Given the description of an element on the screen output the (x, y) to click on. 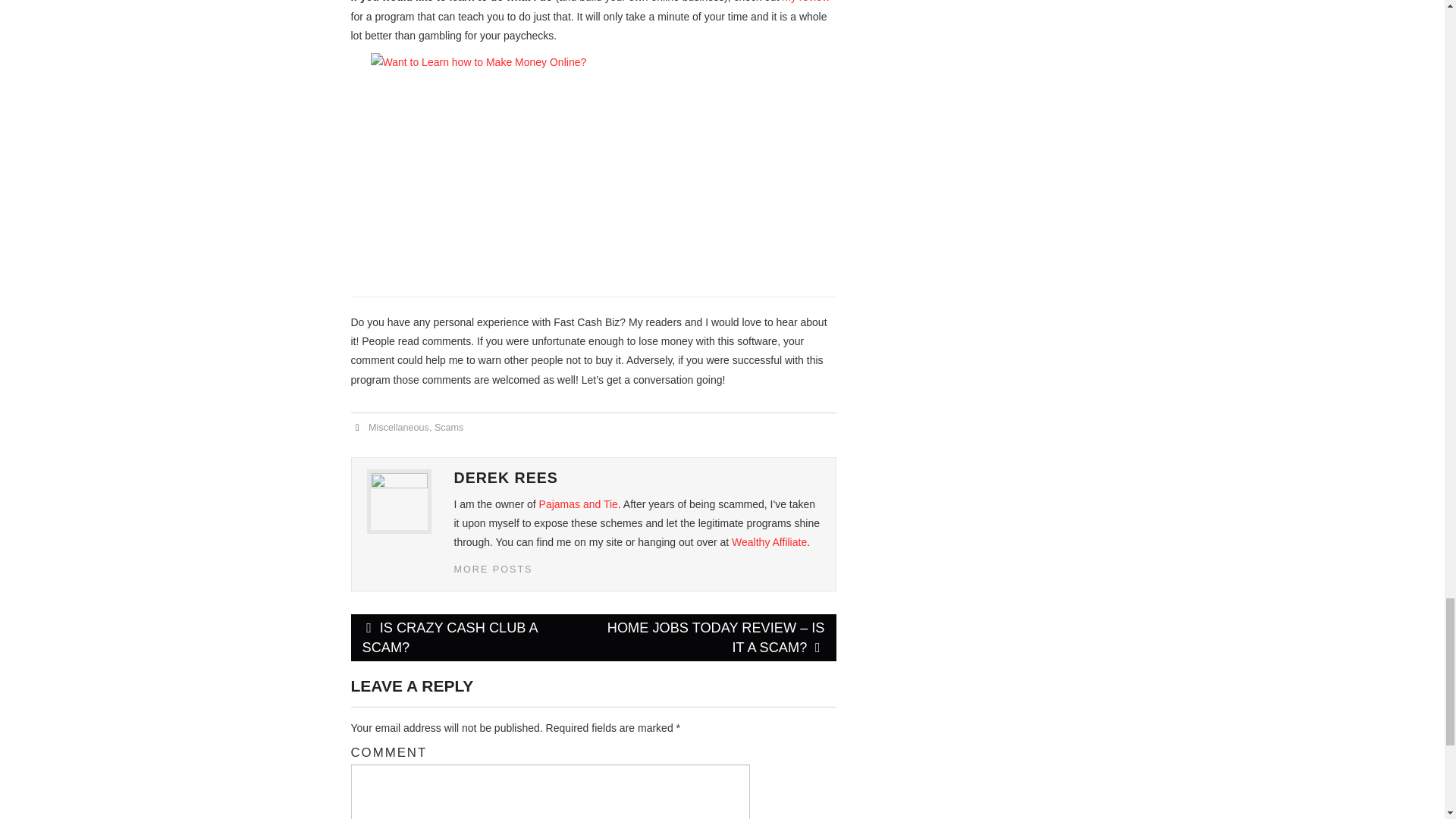
Pajamas and Tie (577, 503)
Miscellaneous (398, 427)
IS CRAZY CASH CLUB A SCAM? (471, 637)
MORE POSTS (492, 569)
Wealthy Affiliate (769, 541)
my review (805, 1)
Scams (448, 427)
